Given the description of an element on the screen output the (x, y) to click on. 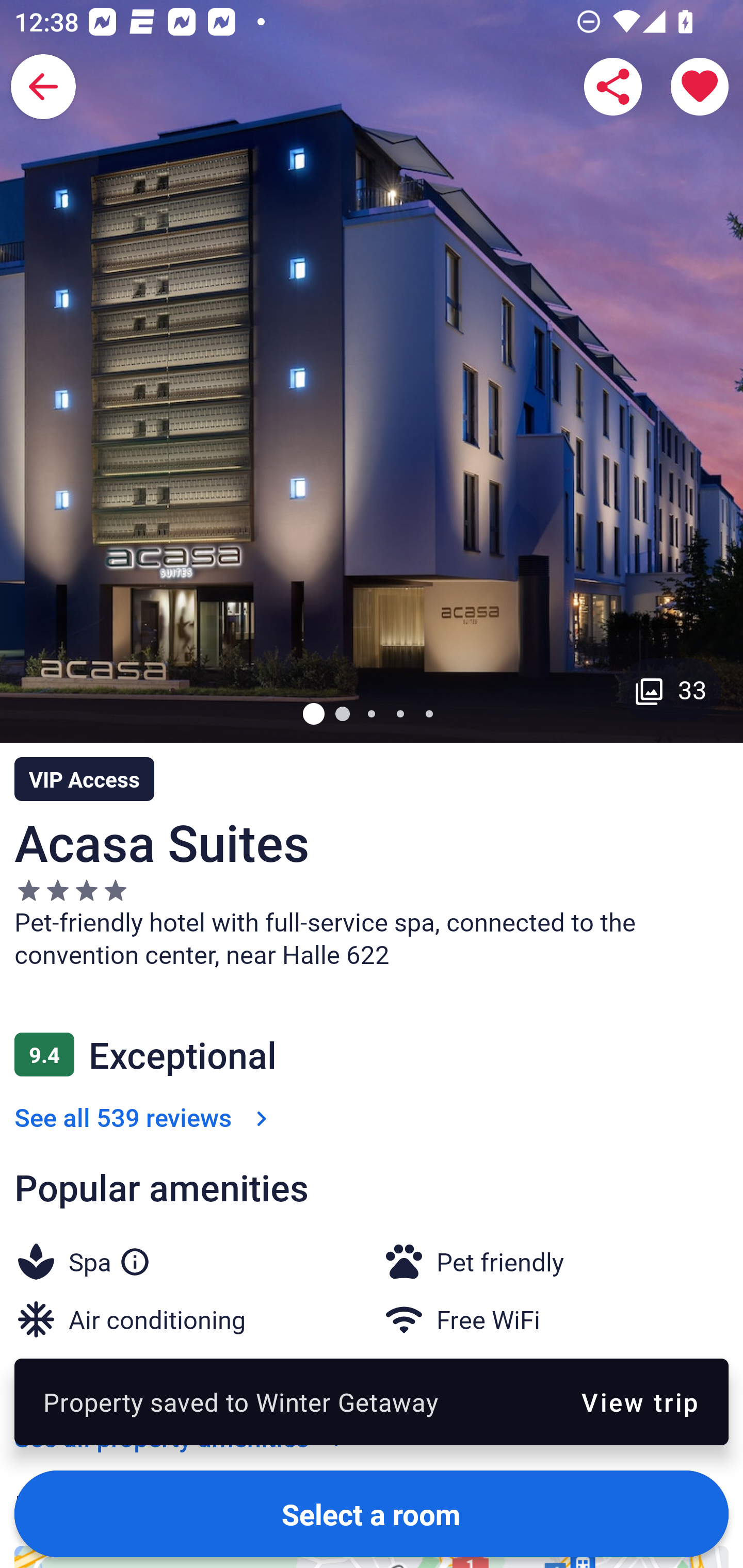
Back (43, 86)
Share Acasa Suites (612, 87)
Gallery button with 33 images (670, 689)
See all 539 reviews See all 539 reviews Link (144, 1117)
Spa (109, 1258)
View trip (640, 1401)
Select a room Button Select a room (371, 1513)
